Given the description of an element on the screen output the (x, y) to click on. 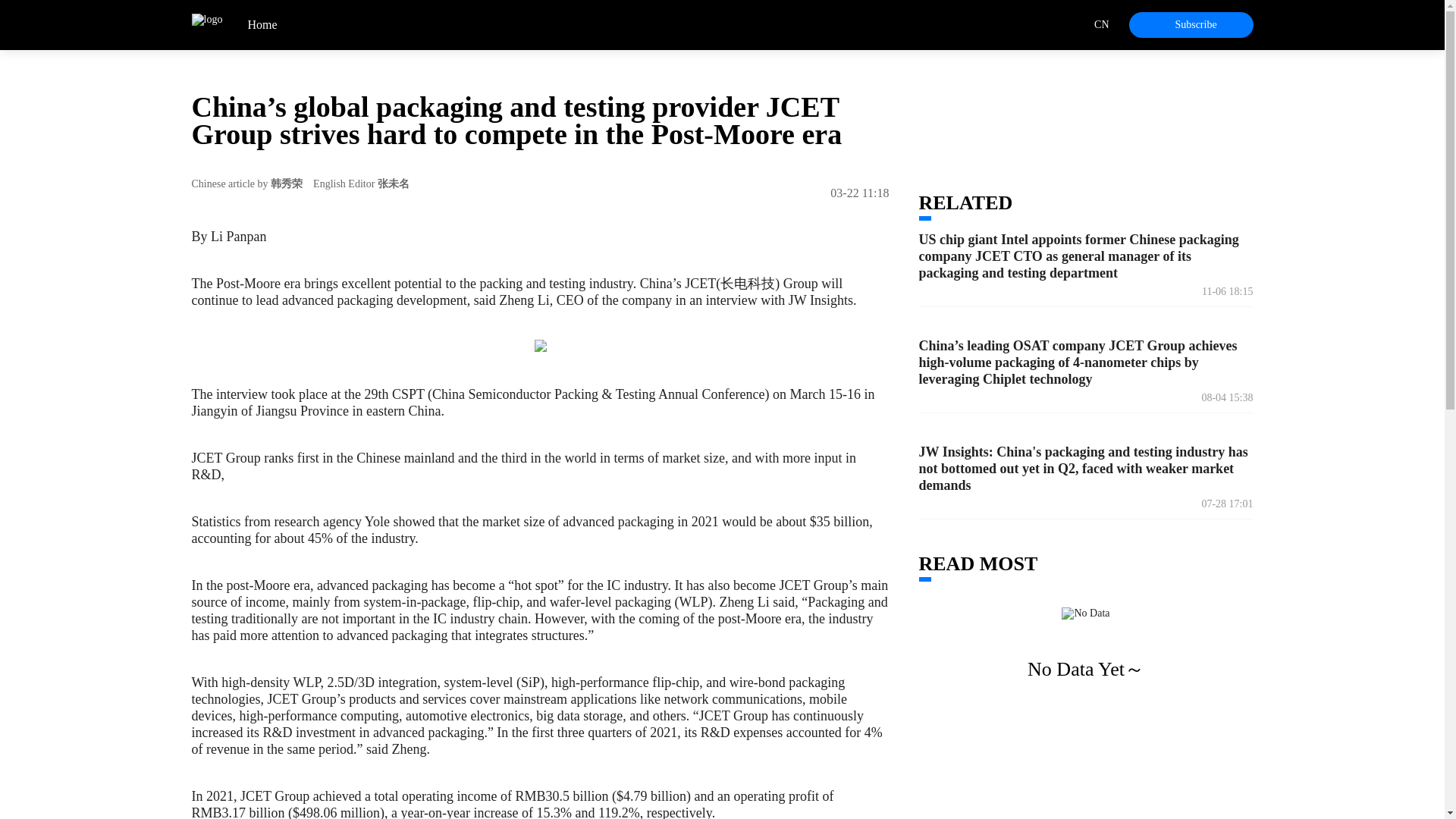
Subscribe (1190, 24)
CN (1111, 24)
Home (249, 24)
